Given the description of an element on the screen output the (x, y) to click on. 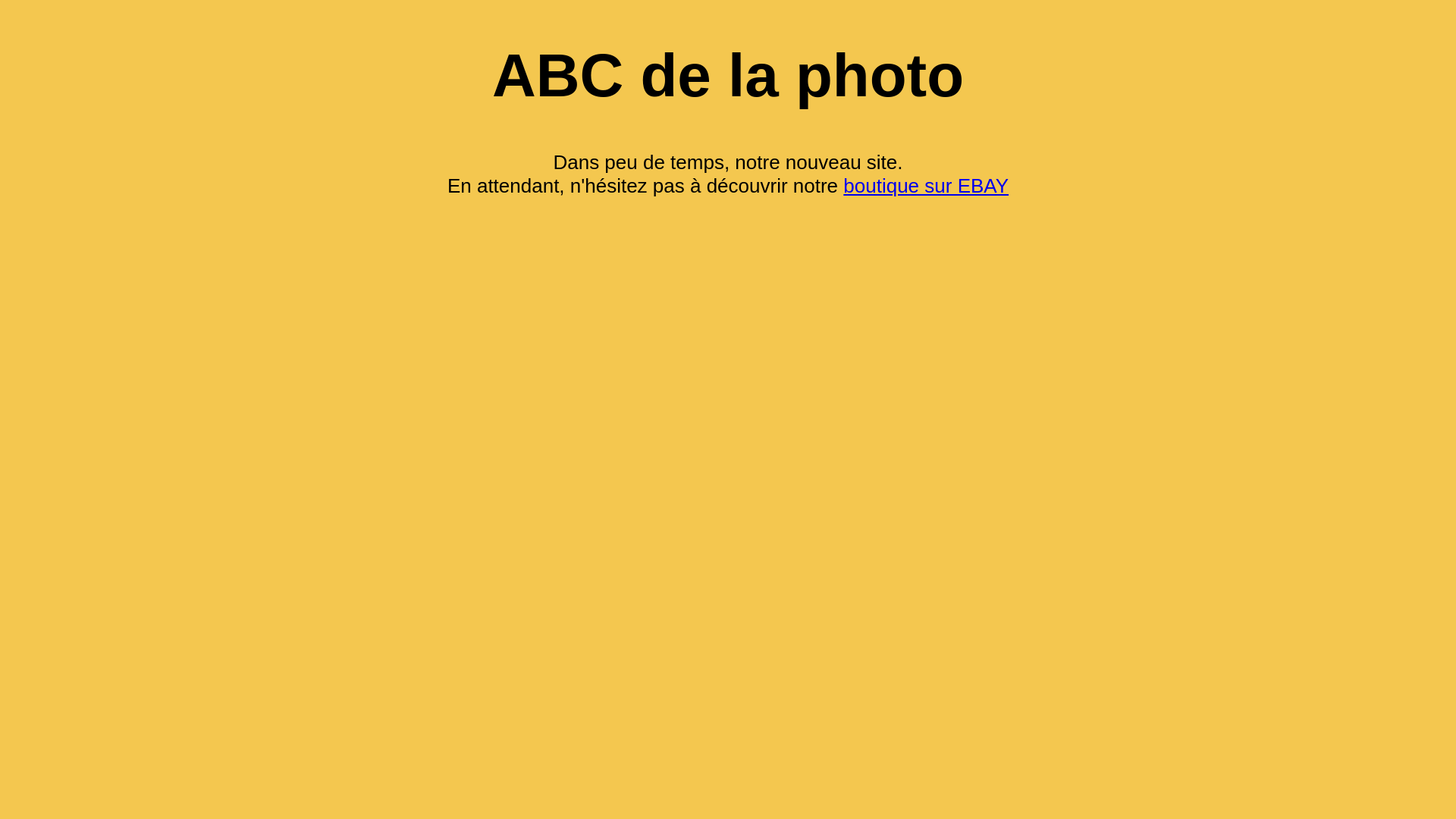
boutique sur EBAY Element type: text (925, 185)
